Given the description of an element on the screen output the (x, y) to click on. 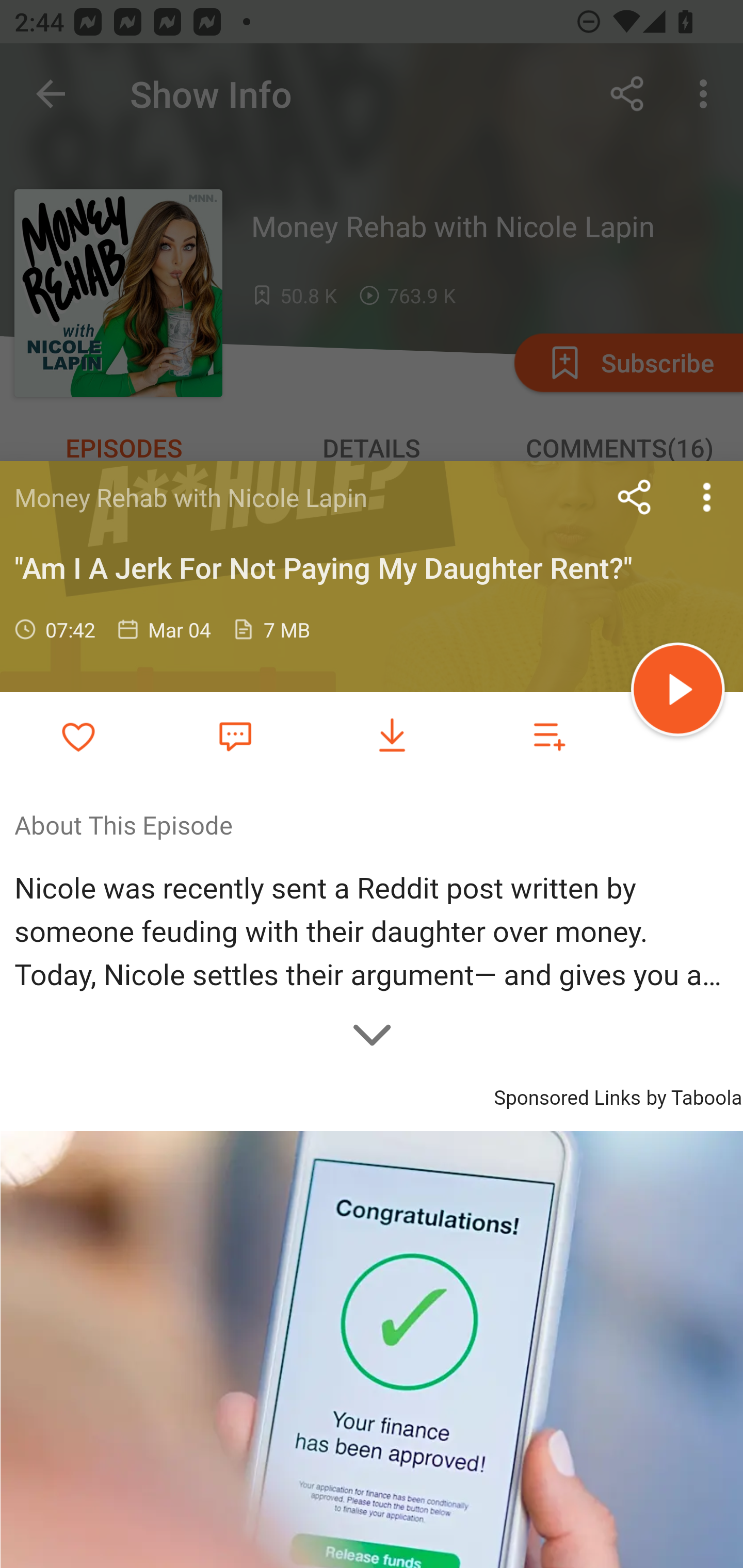
Share (634, 496)
more options (706, 496)
Play (677, 692)
Favorite (234, 735)
Add to Favorites (78, 735)
Download (391, 735)
Add to playlist (548, 735)
Sponsored Links (566, 1095)
by Taboola (693, 1095)
Need Cash? Secure Personal Loans Instantly (371, 1349)
